Given the description of an element on the screen output the (x, y) to click on. 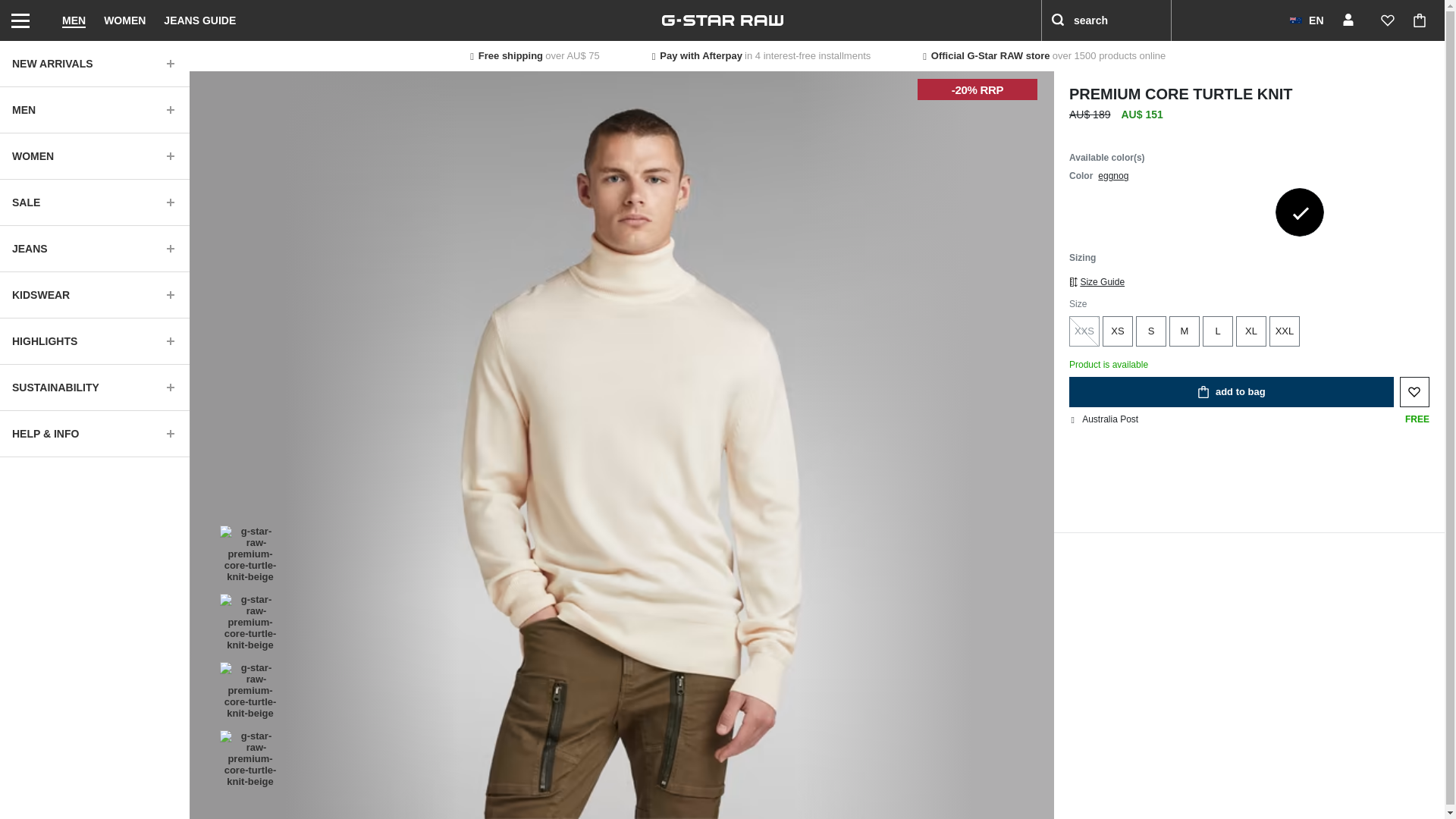
Premium Core Turtle Knit eggnog (1299, 212)
Premium Core Turtle Knit dark black (1093, 212)
Premium Core Turtle Knit salute (1196, 212)
NEW ARRIVALS (94, 63)
EN (1306, 20)
MEN (94, 109)
G-Star RAW (721, 20)
WOMEN (124, 20)
JEANS GUIDE (199, 20)
Premium Core Turtle Knitted Sweater Light Maze (1145, 212)
